Given the description of an element on the screen output the (x, y) to click on. 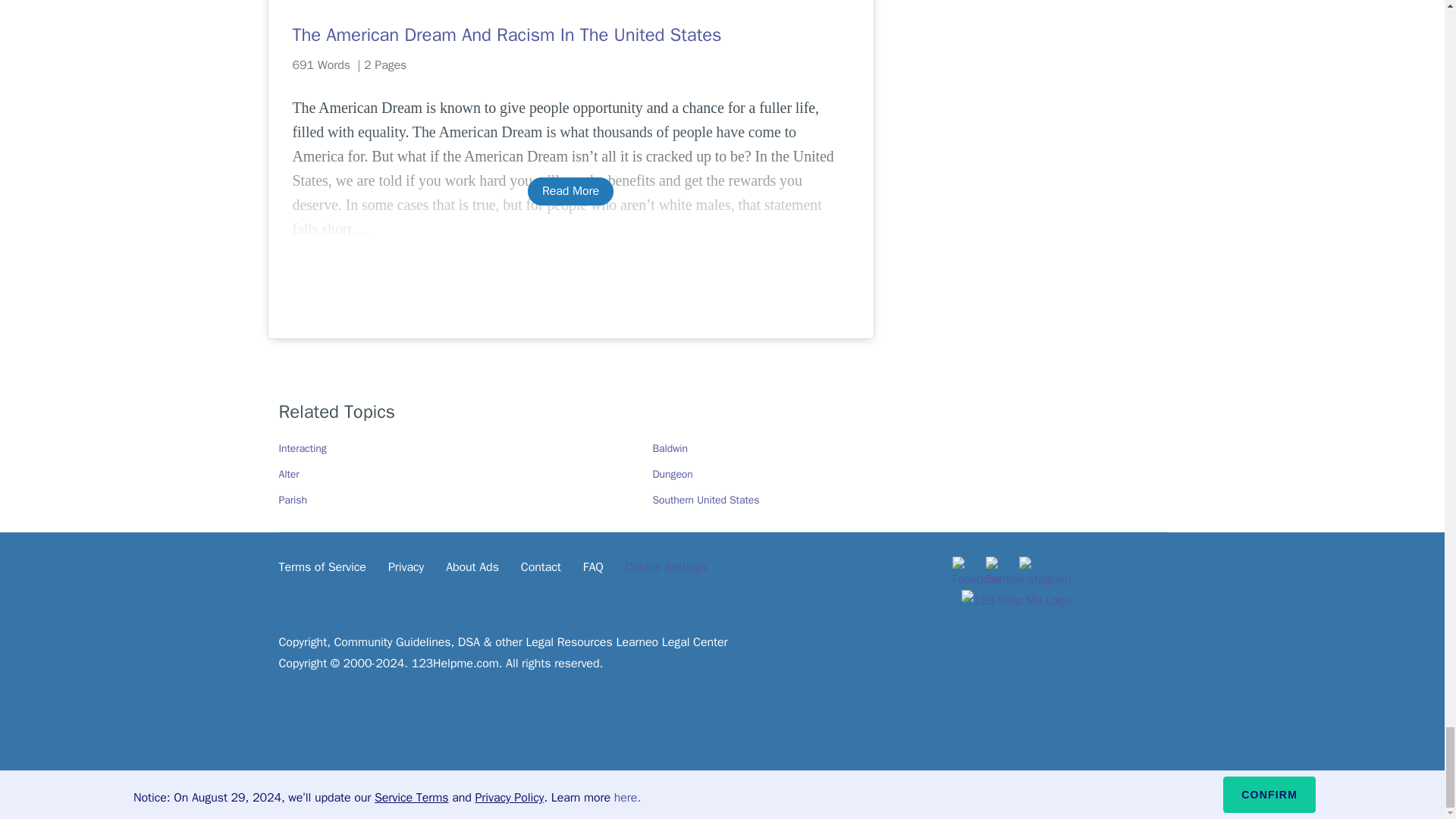
Interacting (302, 448)
Dungeon (672, 473)
Parish (293, 499)
Alter (289, 473)
Baldwin (669, 448)
Southern United States (705, 499)
